Given the description of an element on the screen output the (x, y) to click on. 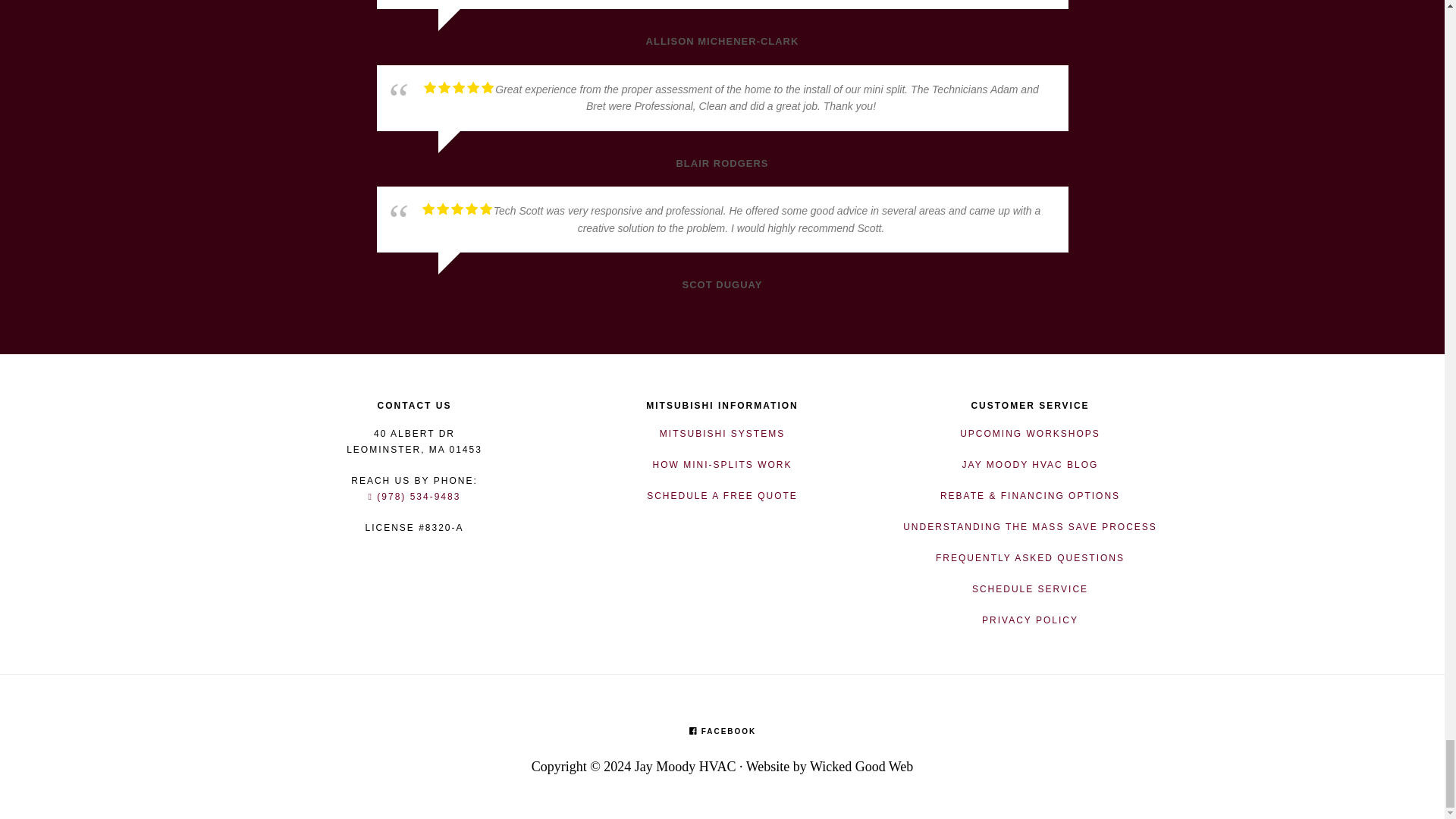
Wicked Good Web (860, 766)
